Given the description of an element on the screen output the (x, y) to click on. 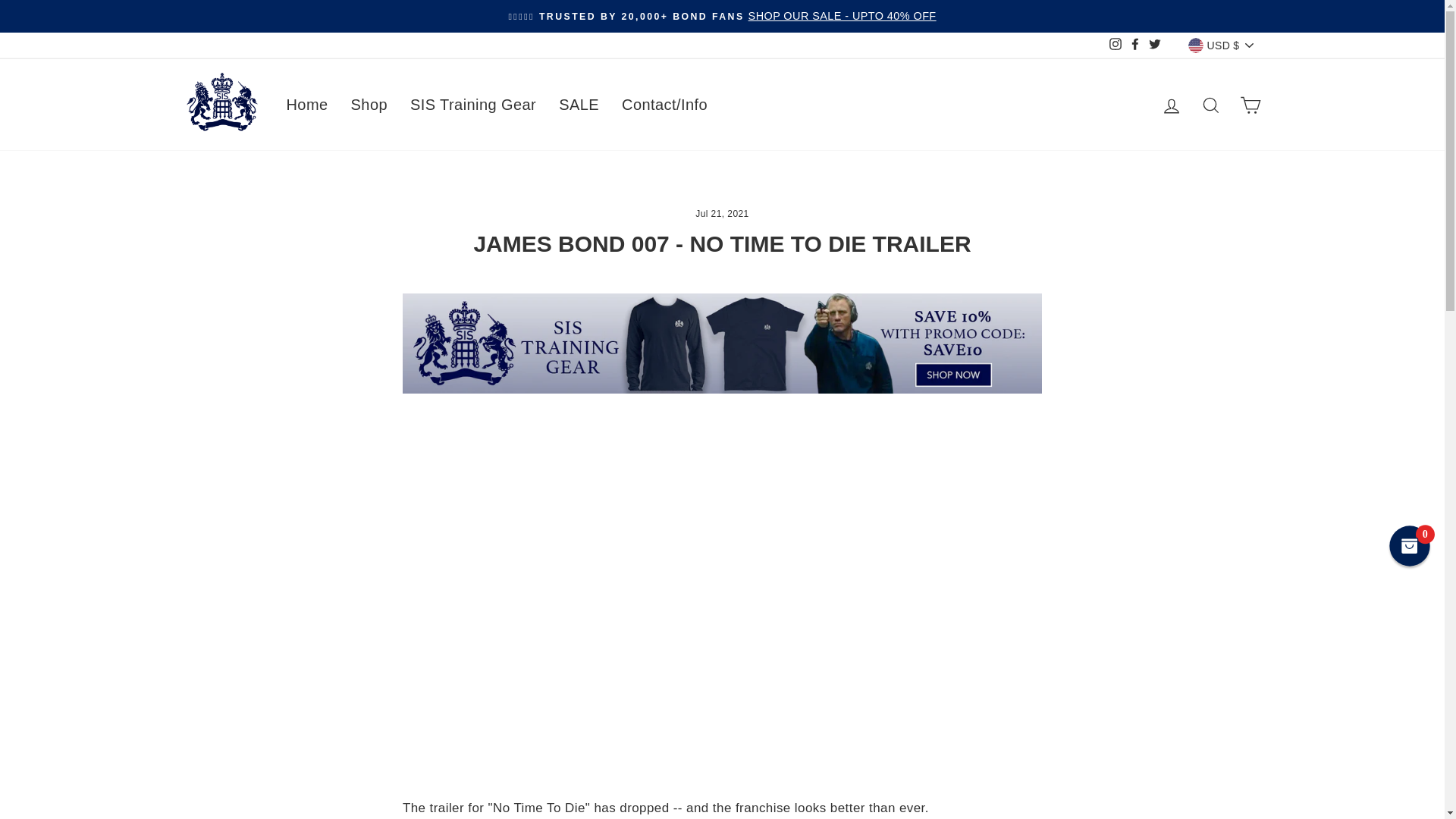
James Bond SIS Training Gear (722, 389)
